Given the description of an element on the screen output the (x, y) to click on. 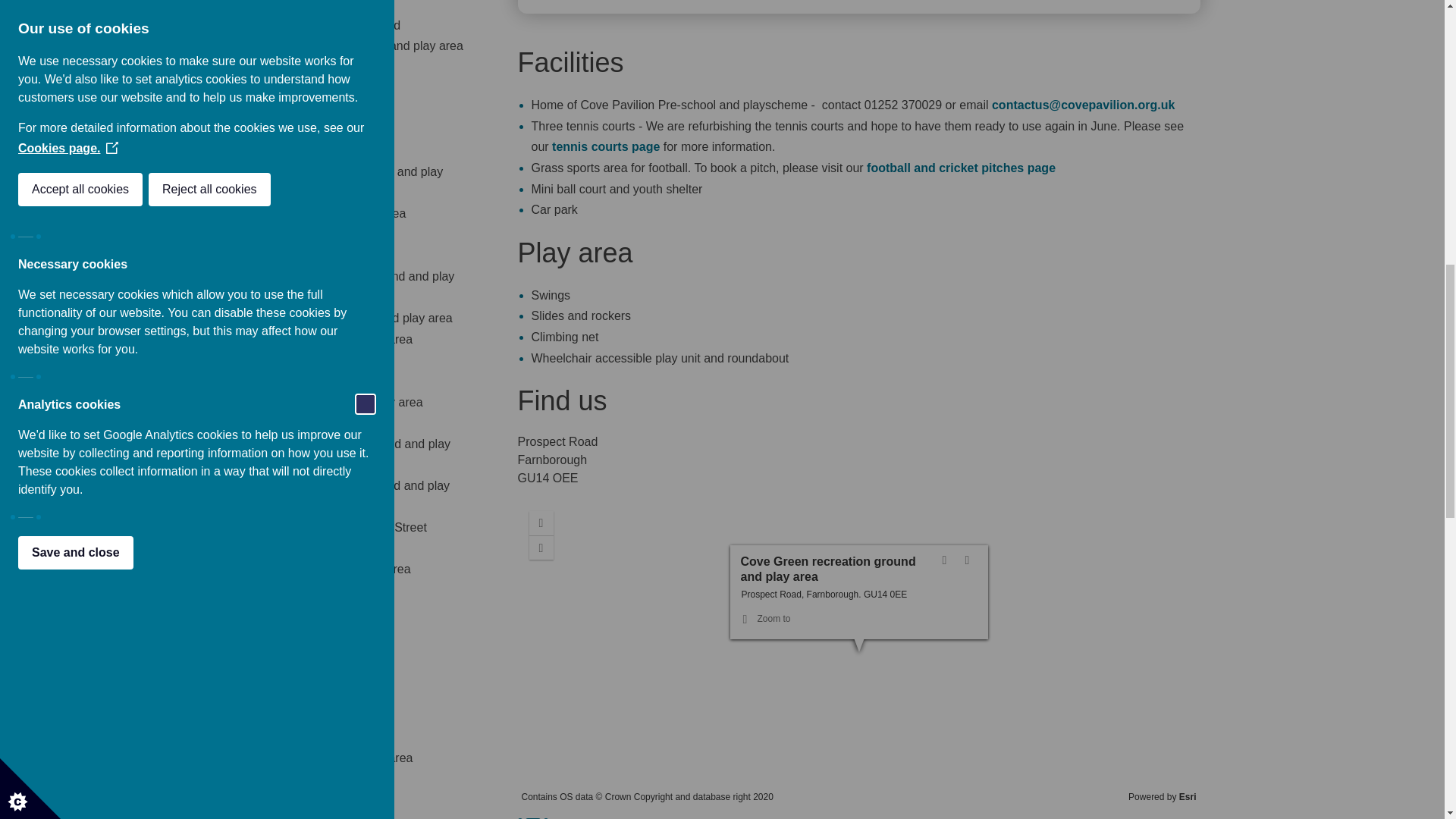
Dock (948, 559)
Close (970, 559)
Zoom in (541, 523)
Zoom to (765, 619)
Zoom out (541, 547)
Collapse (830, 566)
Football and cricket pitches (960, 167)
Tennis courts (605, 146)
